Given the description of an element on the screen output the (x, y) to click on. 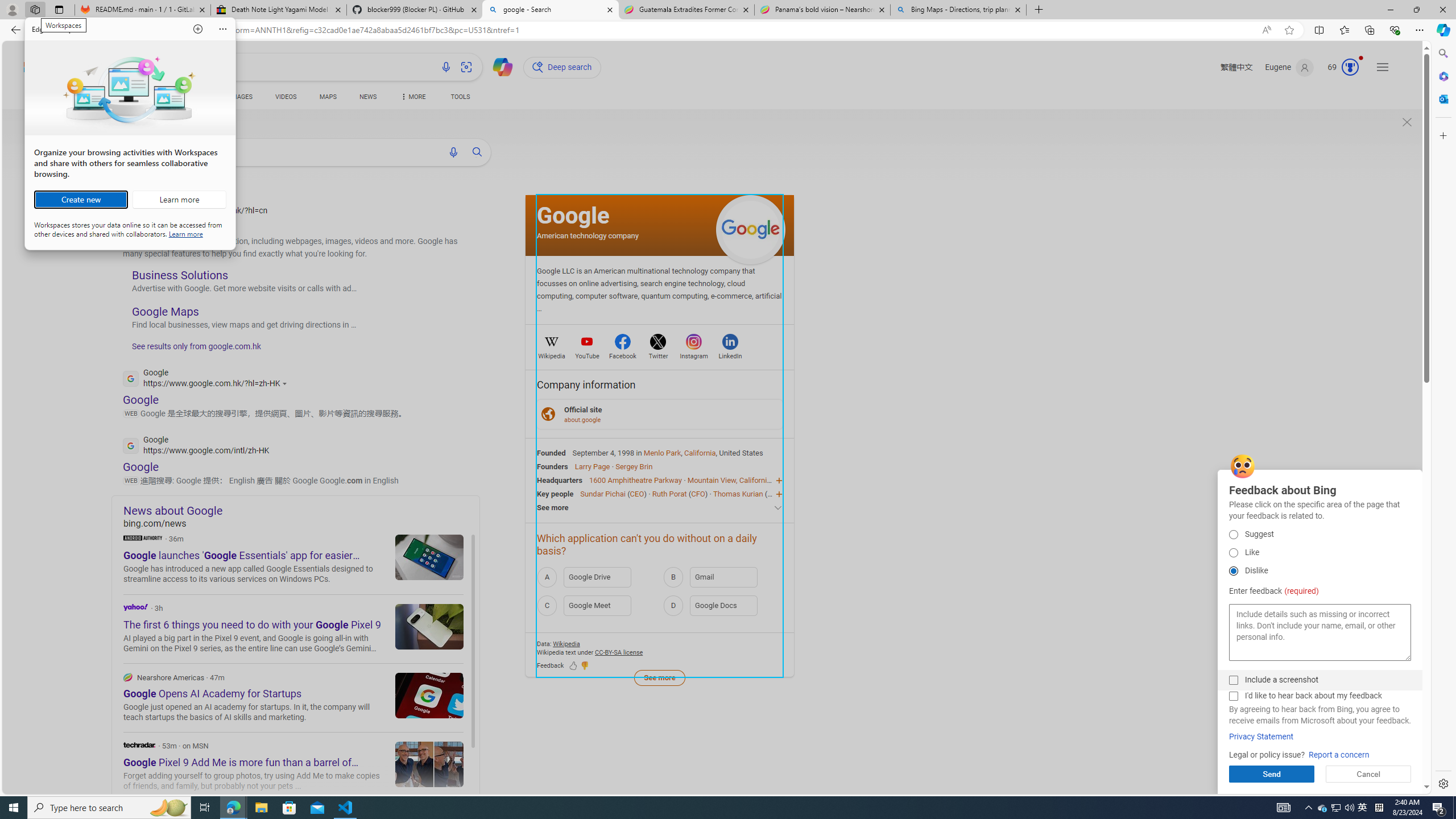
Create new workspace (80, 199)
Send (1271, 773)
Cancel (1368, 773)
I'd like to hear back about my feedback (1232, 696)
Learn more about Workspaces (178, 199)
